Given the description of an element on the screen output the (x, y) to click on. 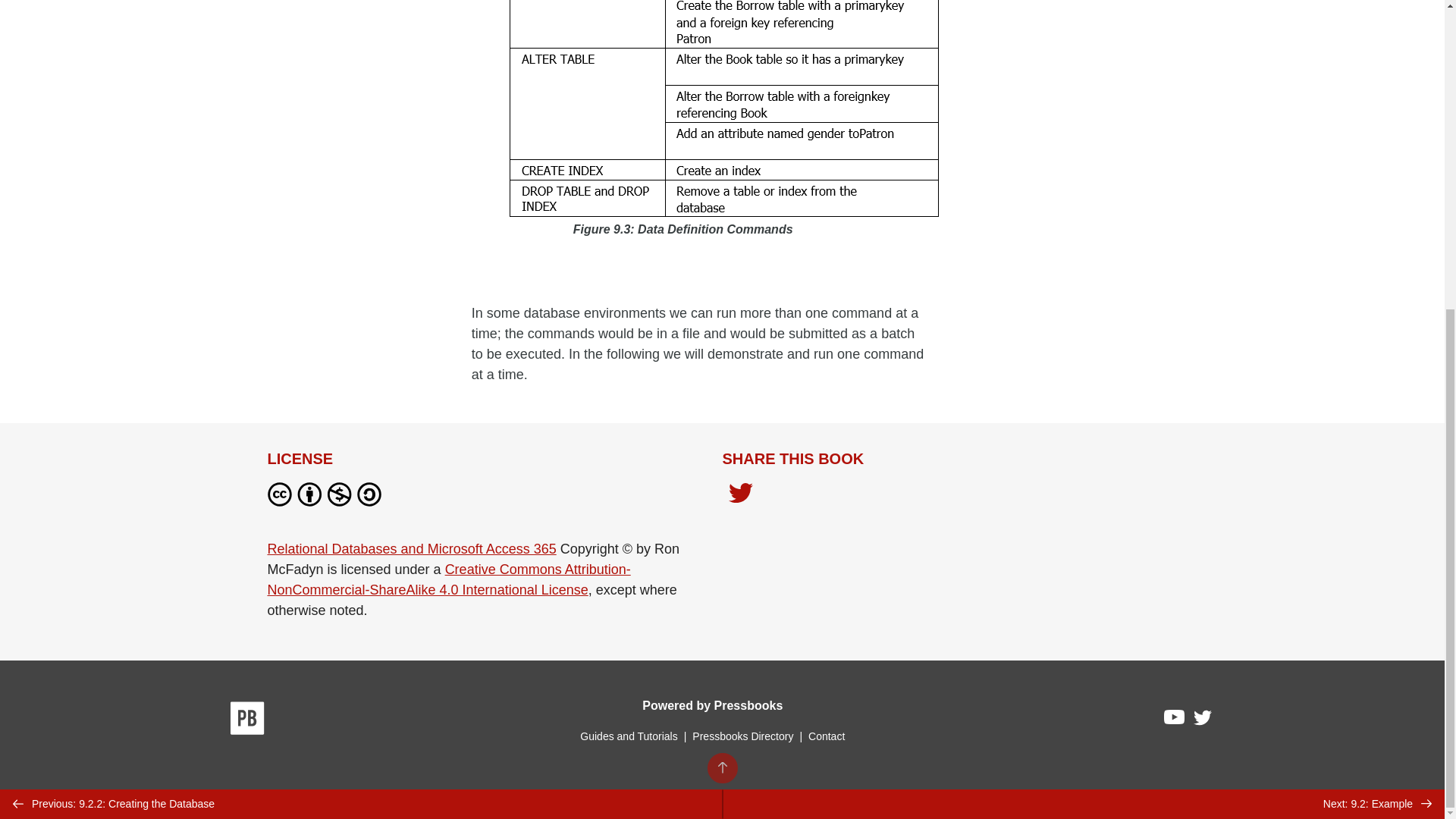
Pressbooks Directory (742, 736)
Guides and Tutorials (627, 736)
Relational Databases and Microsoft Access 365 (411, 548)
BACK TO TOP (721, 278)
Contact (826, 736)
Share on Twitter (740, 496)
Share on Twitter (740, 494)
Previous: 9.2.2: Creating the Database (361, 315)
Powered by Pressbooks (712, 705)
Pressbooks on YouTube (1174, 721)
Previous: 9.2.2: Creating the Database (361, 315)
